Given the description of an element on the screen output the (x, y) to click on. 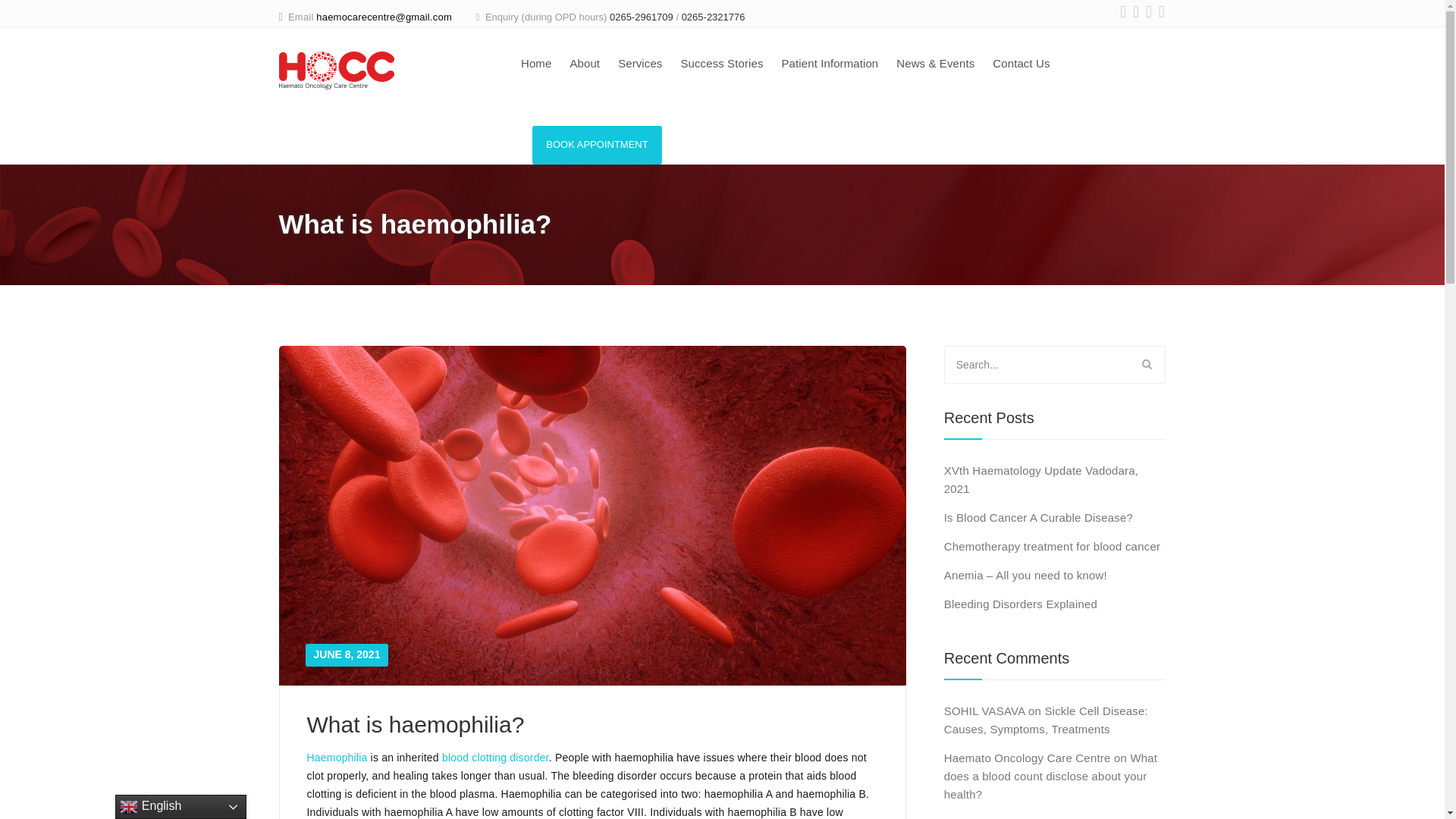
Patient Information (828, 65)
Success Stories (721, 65)
0265-2321776 (713, 16)
blood clotting disorder (495, 757)
0265-2961709 (641, 16)
Haemophilia (335, 757)
Contact Us (1021, 65)
BOOK APPOINTMENT (597, 145)
